Given the description of an element on the screen output the (x, y) to click on. 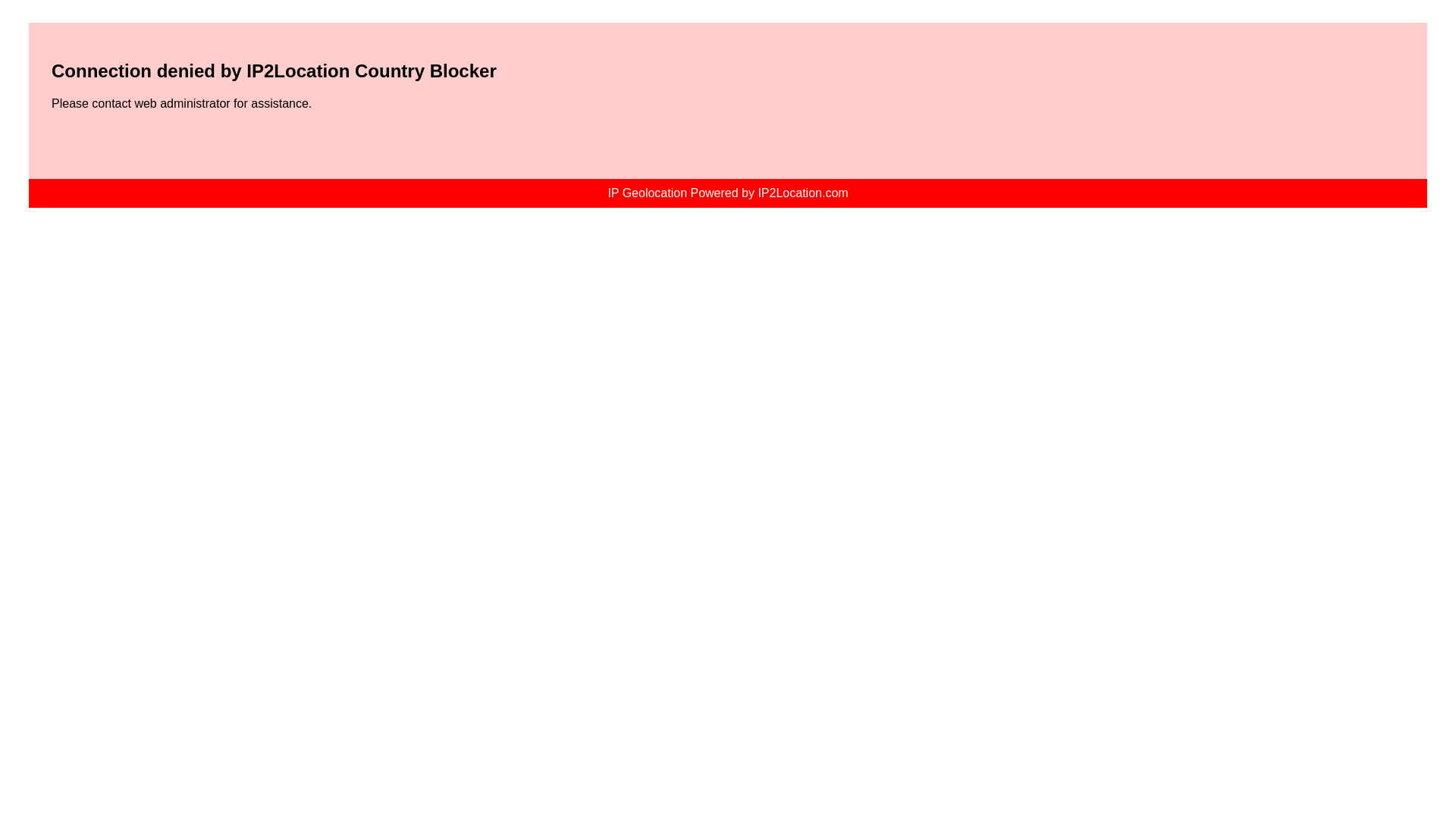
IP Geolocation Powered by IP2Location.com (727, 192)
